Given the description of an element on the screen output the (x, y) to click on. 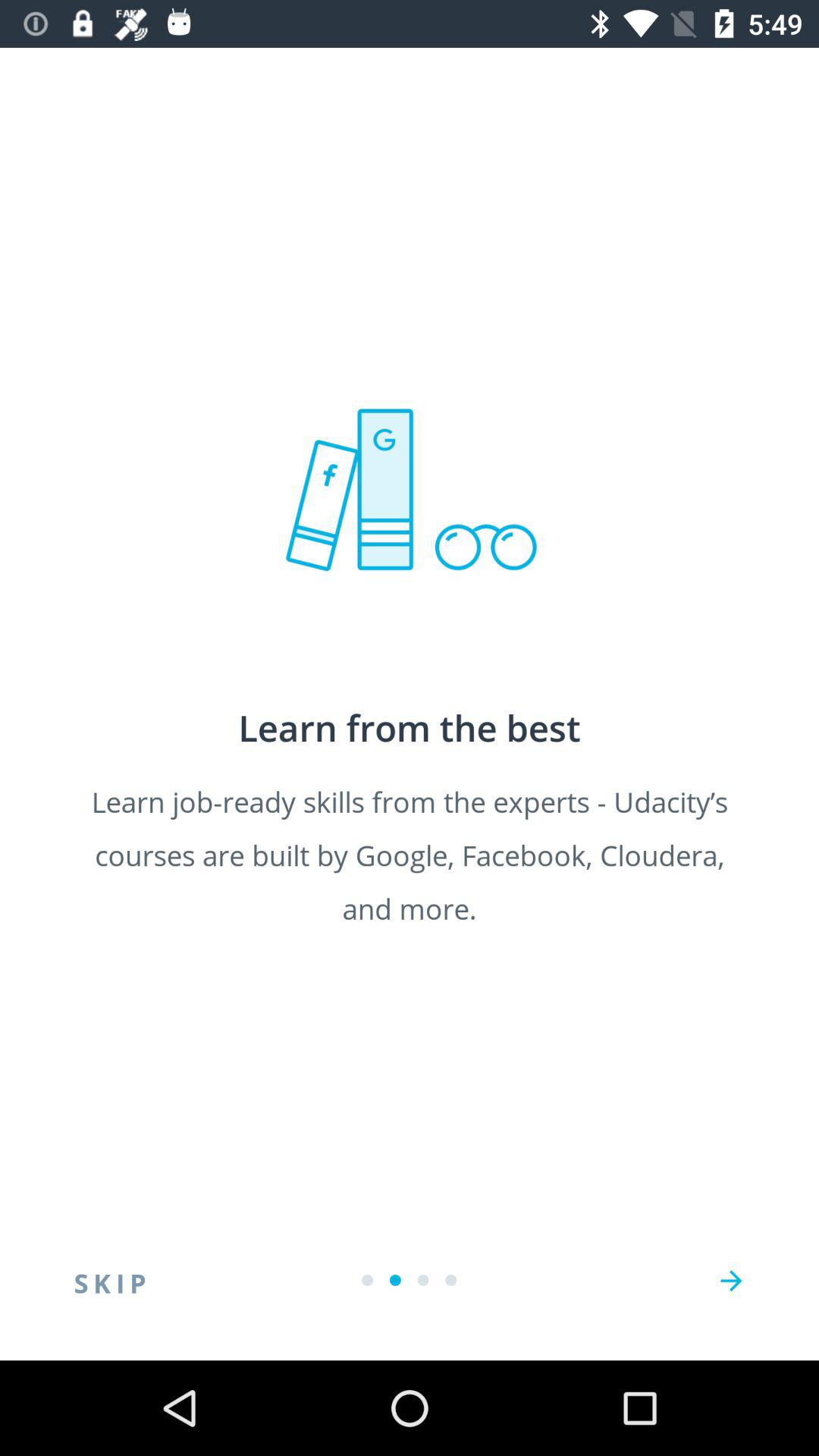
turn off skip (109, 1280)
